Given the description of an element on the screen output the (x, y) to click on. 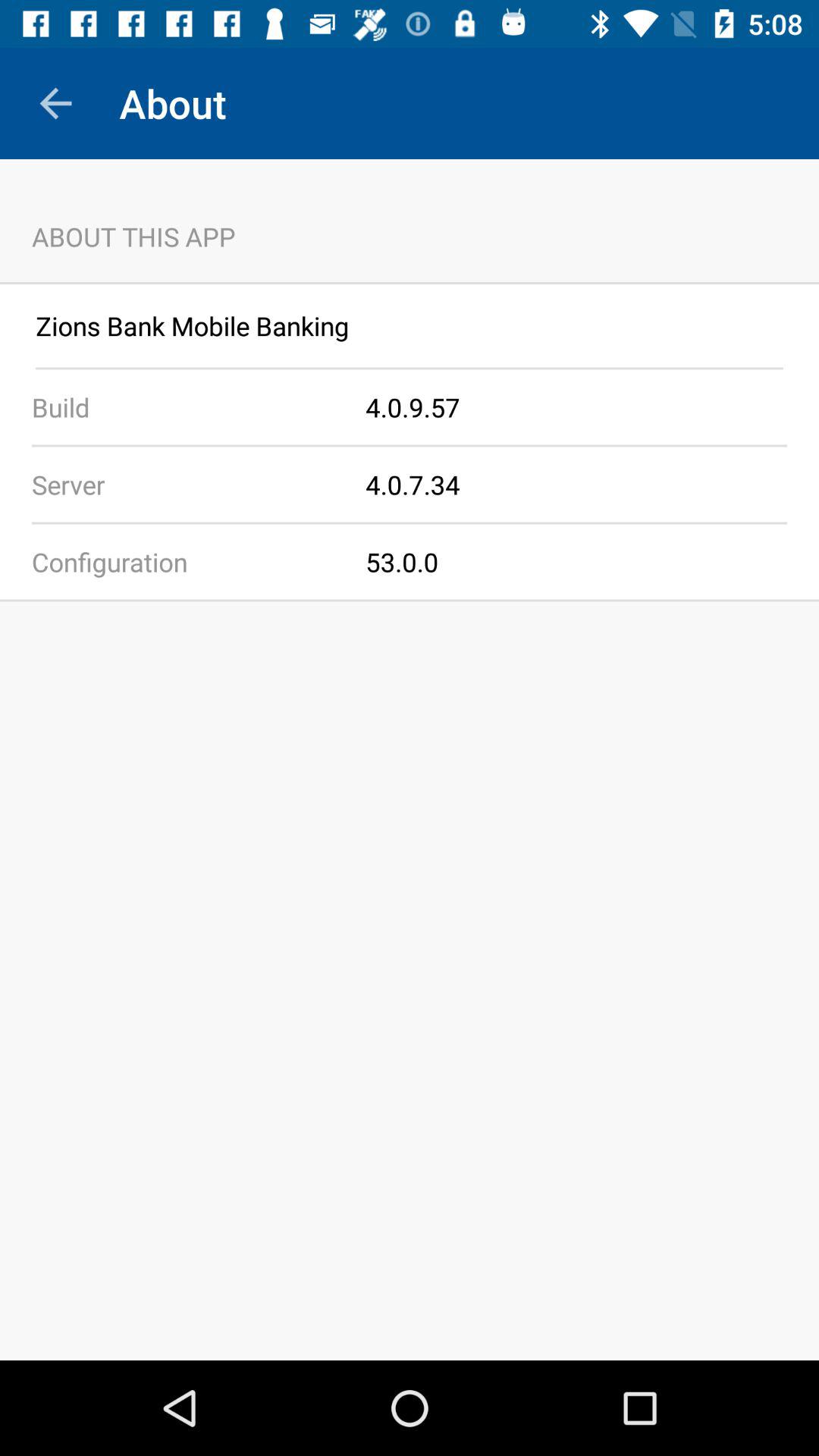
press app next to 4 0 7 (182, 484)
